Given the description of an element on the screen output the (x, y) to click on. 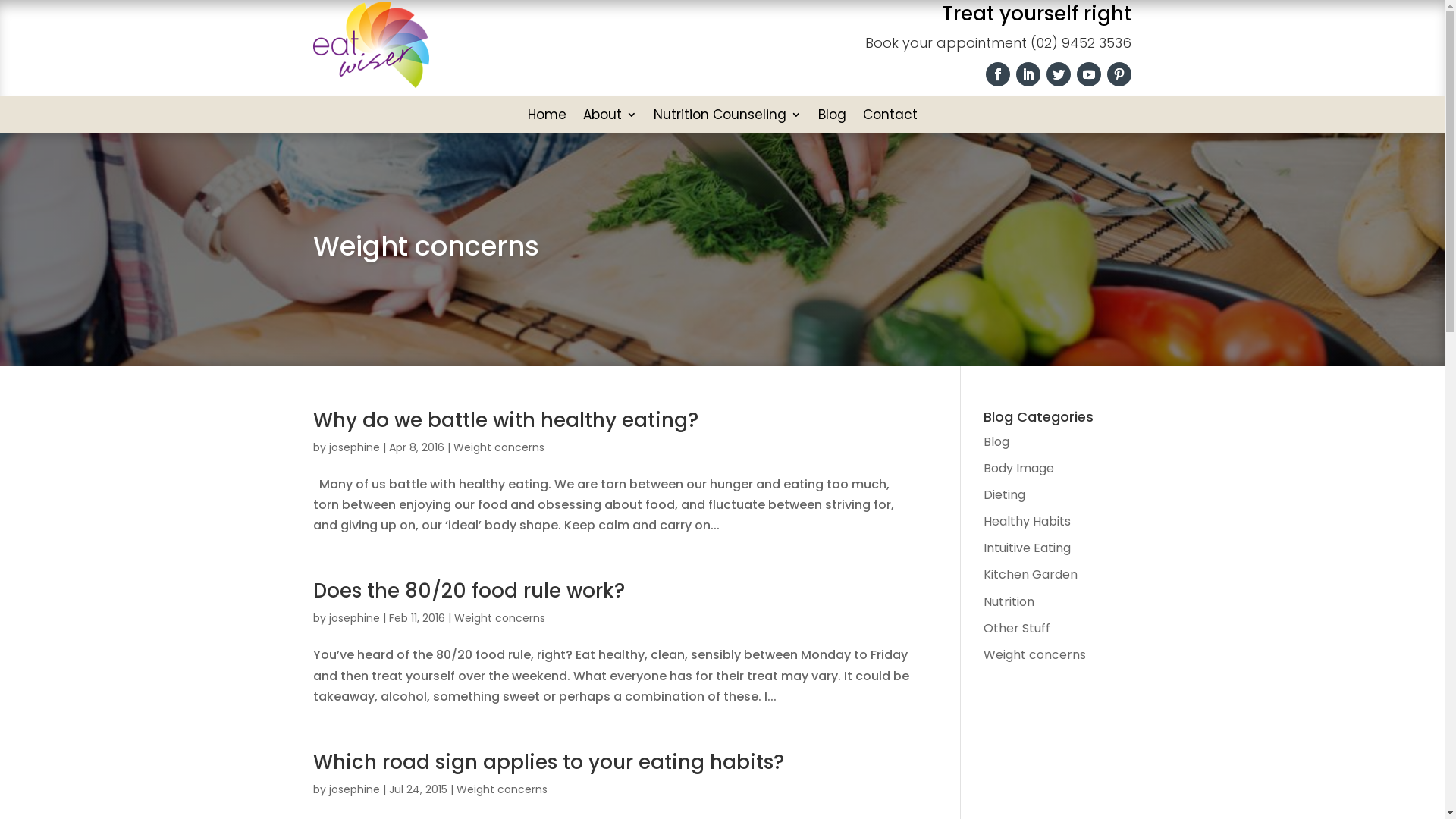
Nutrition Element type: text (1008, 601)
Follow on Pinterest Element type: hover (1119, 74)
josephine Element type: text (354, 447)
About Element type: text (609, 117)
Dieting Element type: text (1004, 494)
Which road sign applies to your eating habits? Element type: text (547, 761)
Kitchen Garden Element type: text (1030, 574)
Blog Element type: text (831, 117)
Blog Element type: text (996, 440)
Follow on Twitter Element type: hover (1058, 74)
Other Stuff Element type: text (1016, 628)
Follow on Facebook Element type: hover (997, 74)
(02) 9452 3536 Element type: text (1080, 42)
Body Image Element type: text (1018, 467)
Home Element type: text (546, 117)
Weight concerns Element type: text (501, 789)
download Element type: hover (370, 44)
josephine Element type: text (354, 789)
Does the 80/20 food rule work? Element type: text (468, 590)
Intuitive Eating Element type: text (1026, 547)
Weight concerns Element type: text (1034, 654)
Healthy Habits Element type: text (1026, 521)
Follow on LinkedIn Element type: hover (1028, 74)
josephine Element type: text (354, 617)
Contact Element type: text (889, 117)
Weight concerns Element type: text (498, 447)
Why do we battle with healthy eating? Element type: text (504, 419)
Nutrition Counseling Element type: text (727, 117)
Follow on Youtube Element type: hover (1088, 74)
Weight concerns Element type: text (498, 617)
